Given the description of an element on the screen output the (x, y) to click on. 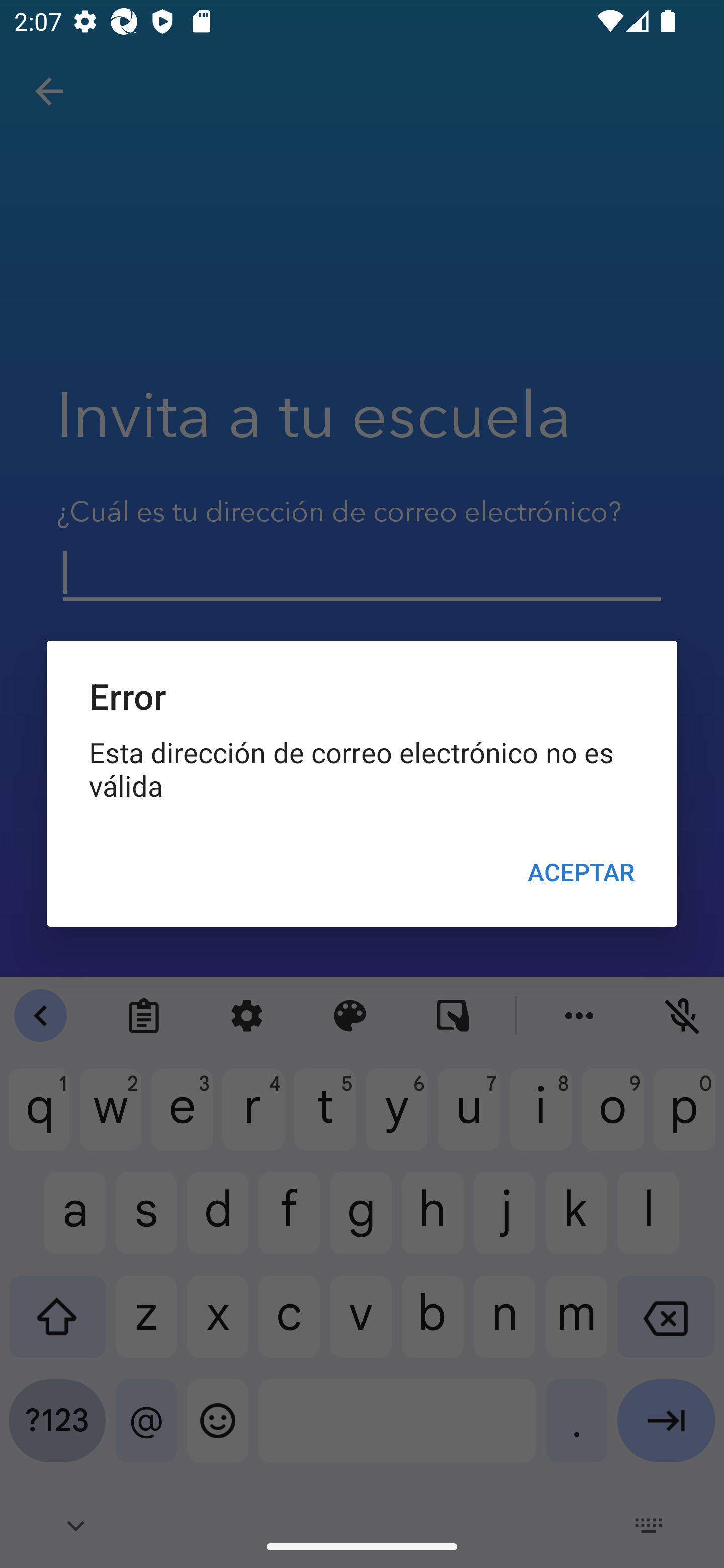
ACEPTAR (580, 872)
